Given the description of an element on the screen output the (x, y) to click on. 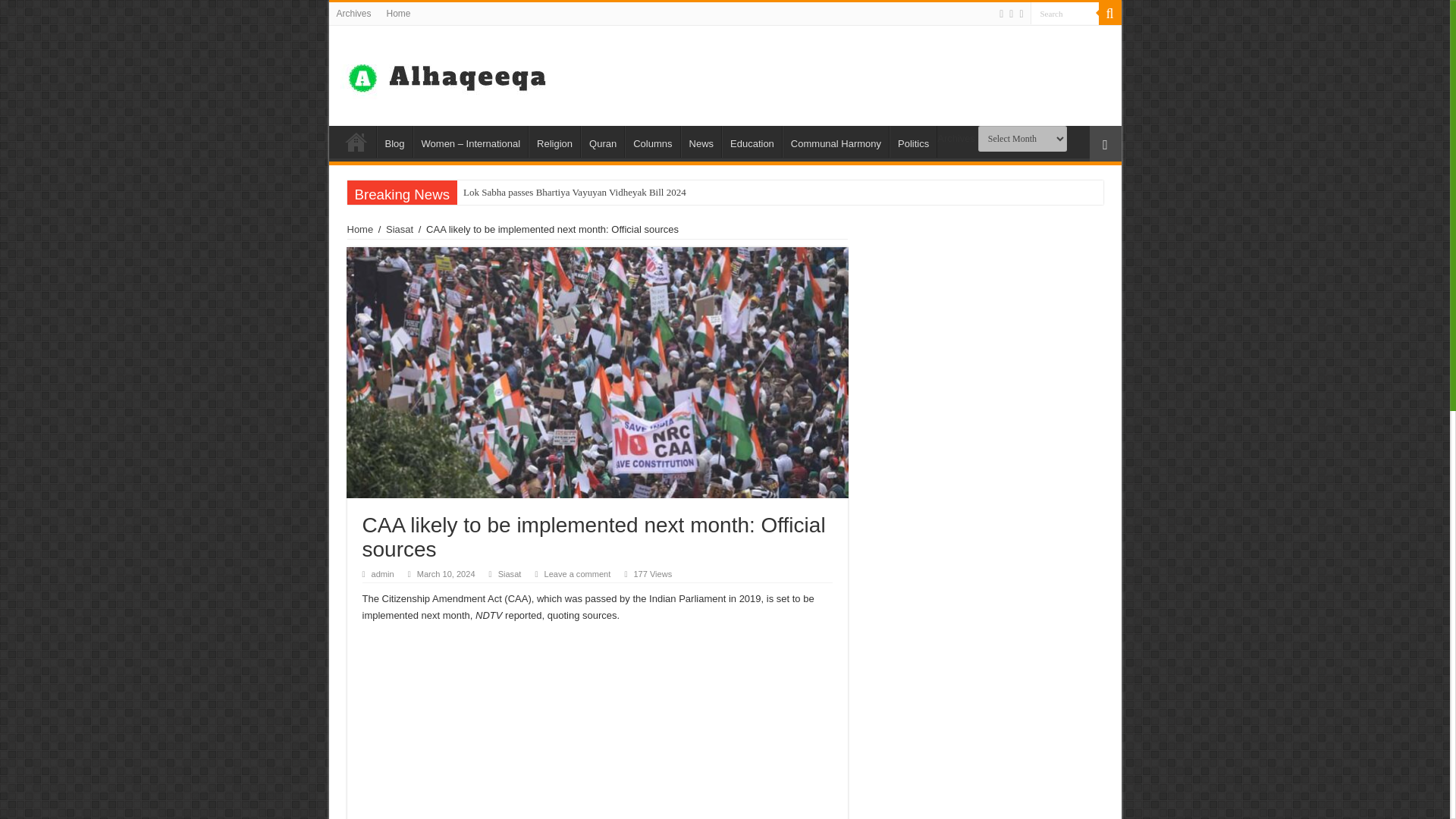
Archives (353, 13)
Politics (912, 142)
Random Article (1105, 143)
Home (398, 13)
Search (1063, 13)
Education (751, 142)
Lok Sabha passes Bhartiya Vayuyan Vidheyak Bill 2024 (640, 192)
Home (355, 142)
Lok Sabha passes Bhartiya Vayuyan Vidheyak Bill 2024 (640, 192)
Search (1063, 13)
